Given the description of an element on the screen output the (x, y) to click on. 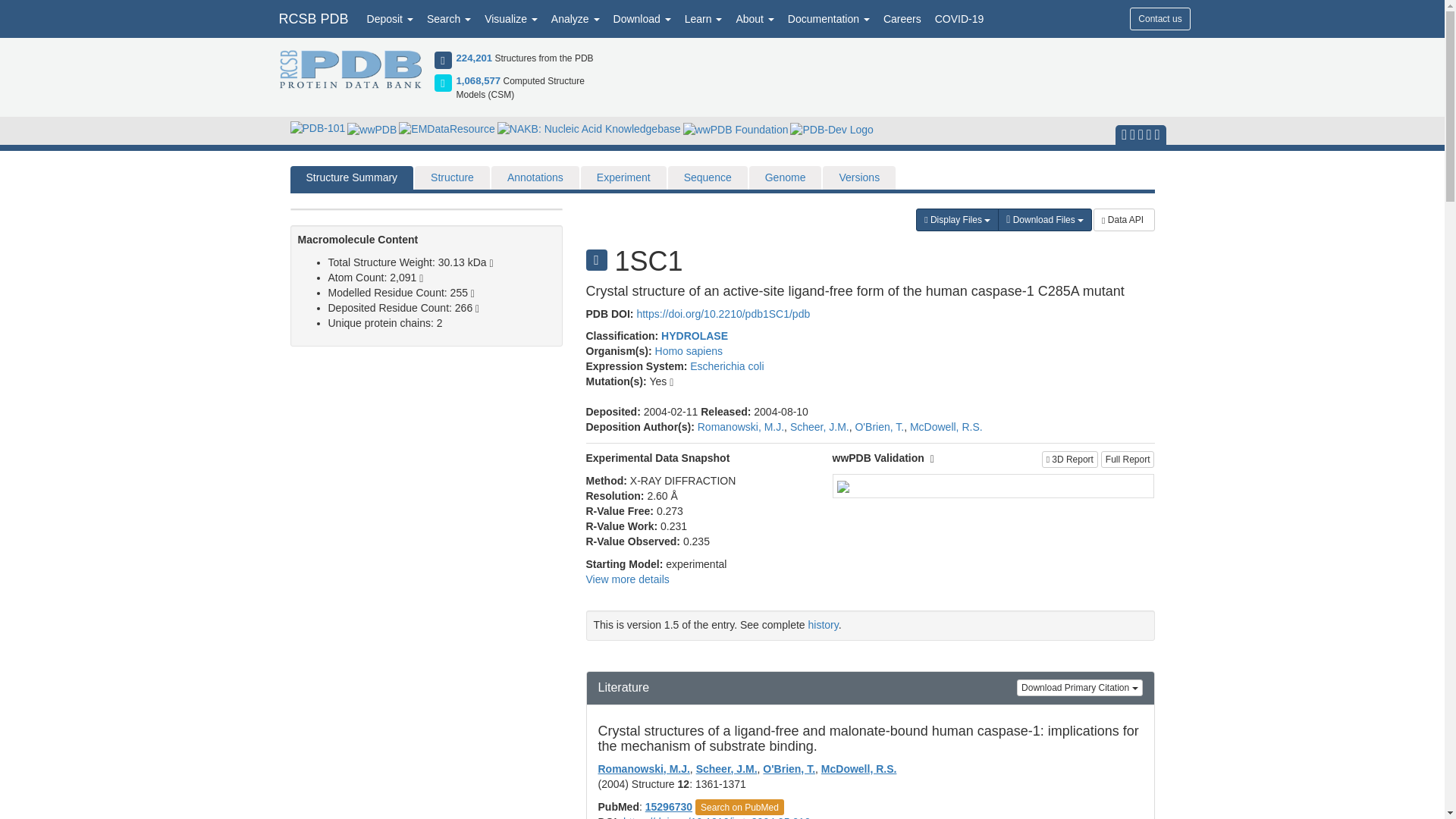
RCSB PDB (312, 18)
Visualize  (510, 18)
Search  (448, 18)
Deposit  (389, 18)
Analyze  (575, 18)
